Given the description of an element on the screen output the (x, y) to click on. 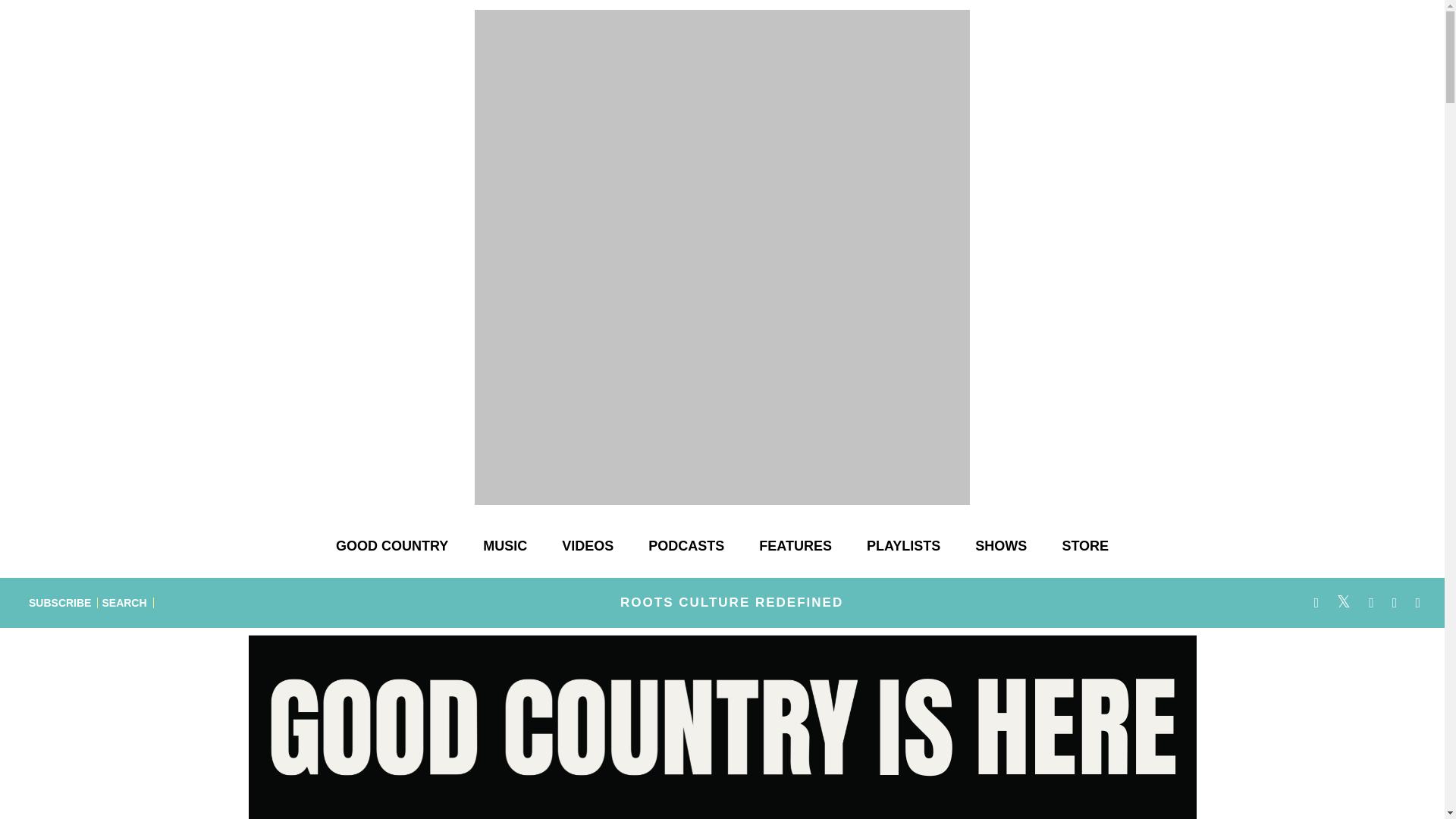
PODCASTS (686, 545)
FEATURES (795, 545)
MUSIC (504, 545)
SHOWS (1000, 545)
SUBSCRIBE (60, 602)
GOOD COUNTRY (391, 545)
STORE (1085, 545)
SEARCH (124, 602)
PLAYLISTS (903, 545)
VIDEOS (588, 545)
